Given the description of an element on the screen output the (x, y) to click on. 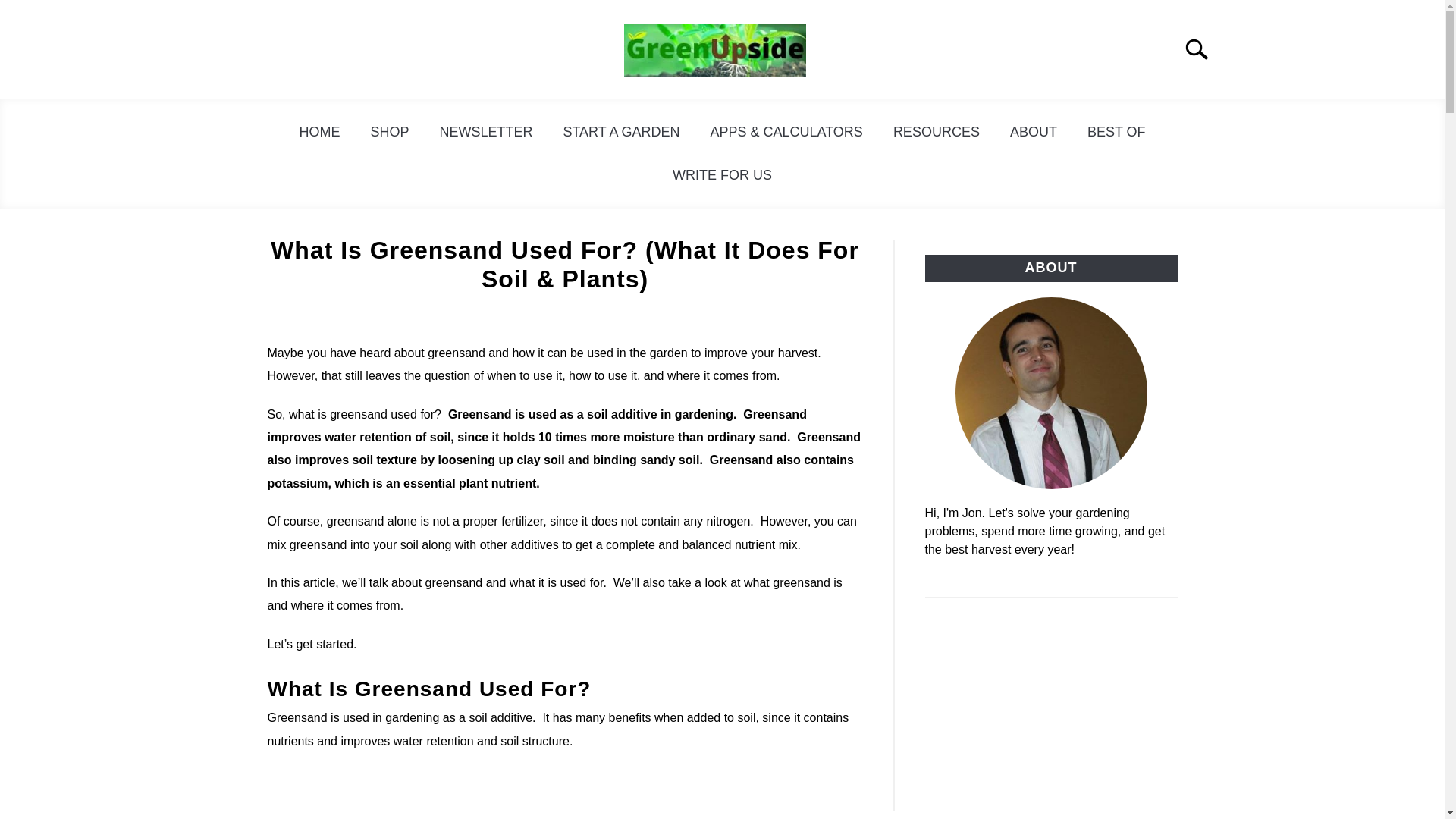
HOME (319, 131)
Search (1203, 49)
SHOP (389, 131)
RESOURCES (935, 131)
ABOUT (1032, 131)
BEST OF (1115, 131)
NEWSLETTER (485, 131)
START A GARDEN (620, 131)
WRITE FOR US (722, 175)
